Given the description of an element on the screen output the (x, y) to click on. 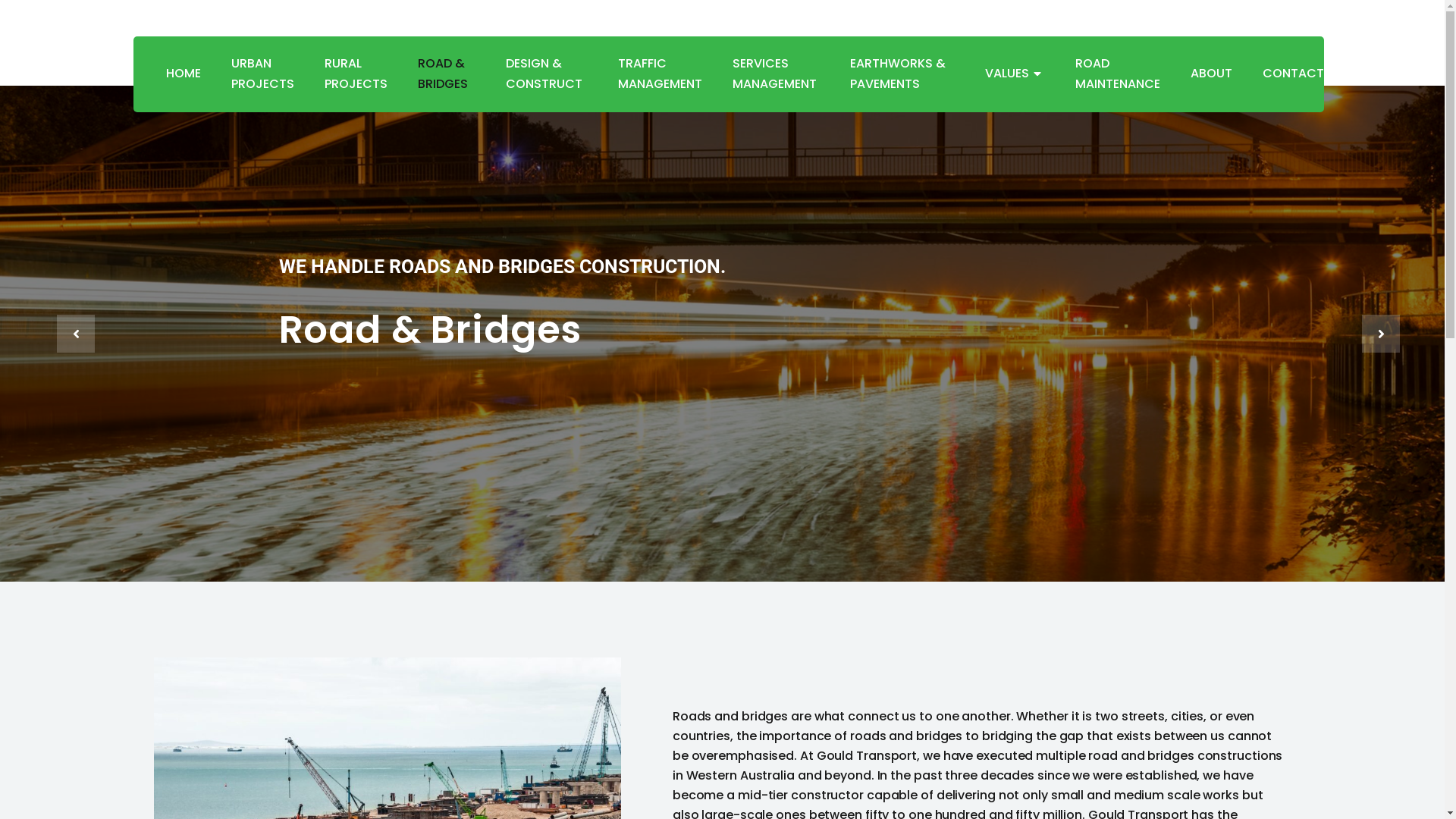
HOME Element type: text (190, 74)
VALUES Element type: text (1014, 74)
ABOUT Element type: text (1211, 74)
Skip to content Element type: text (15, 7)
ROAD MAINTENANCE Element type: text (1117, 74)
URBAN PROJECTS Element type: text (261, 74)
RURAL PROJECTS Element type: text (355, 74)
DESIGN & CONSTRUCT Element type: text (546, 74)
ROAD & BRIDGES Element type: text (445, 74)
EARTHWORKS & PAVEMENTS Element type: text (901, 74)
SERVICES MANAGEMENT Element type: text (775, 74)
CONTACT Element type: text (1284, 74)
TRAFFIC MANAGEMENT Element type: text (659, 74)
